Given the description of an element on the screen output the (x, y) to click on. 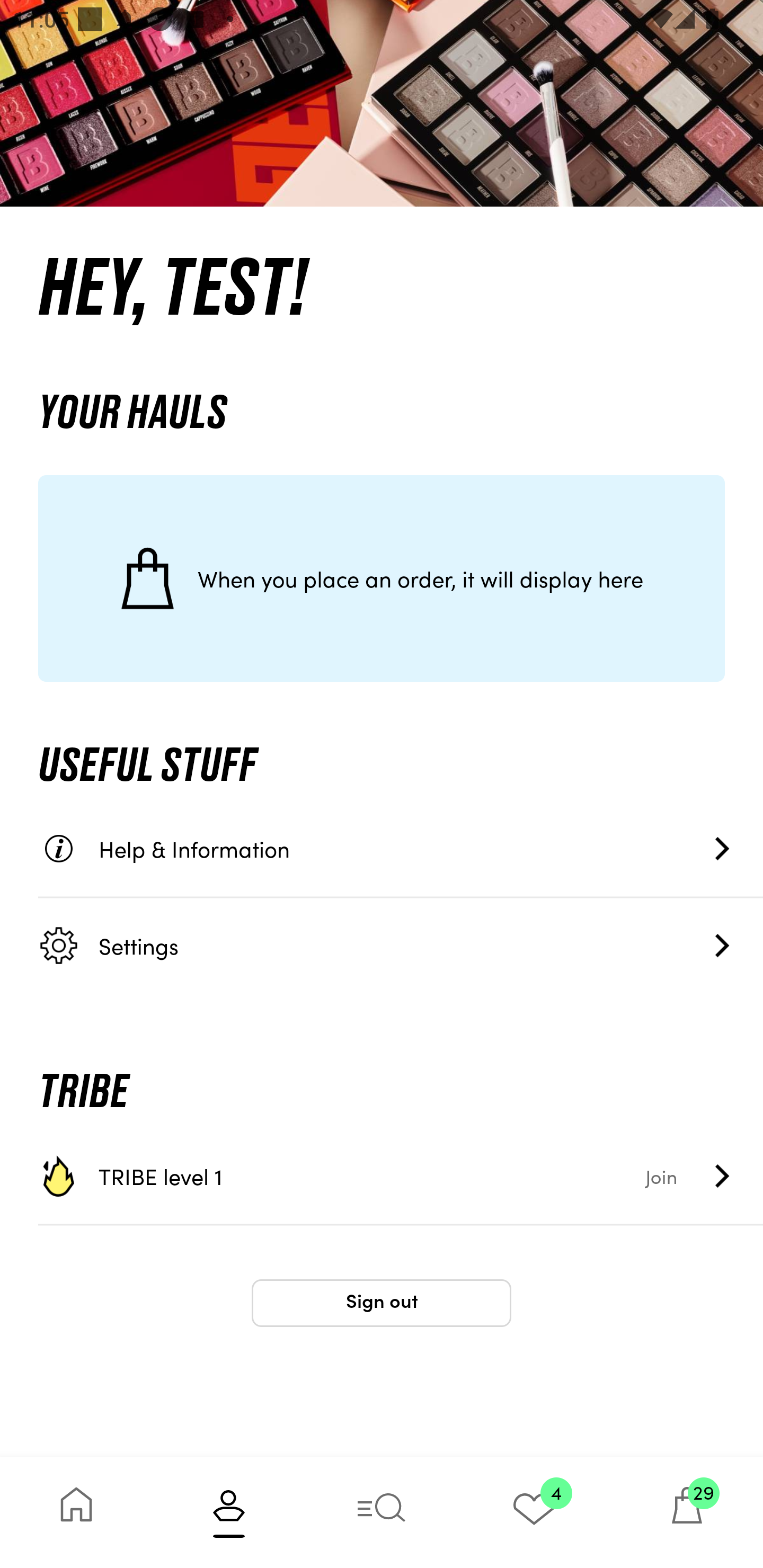
Help & Information (400, 848)
Settings (400, 945)
TRIBE level 1 Join (400, 1175)
Sign out (381, 1302)
4 (533, 1512)
29 (686, 1512)
